Given the description of an element on the screen output the (x, y) to click on. 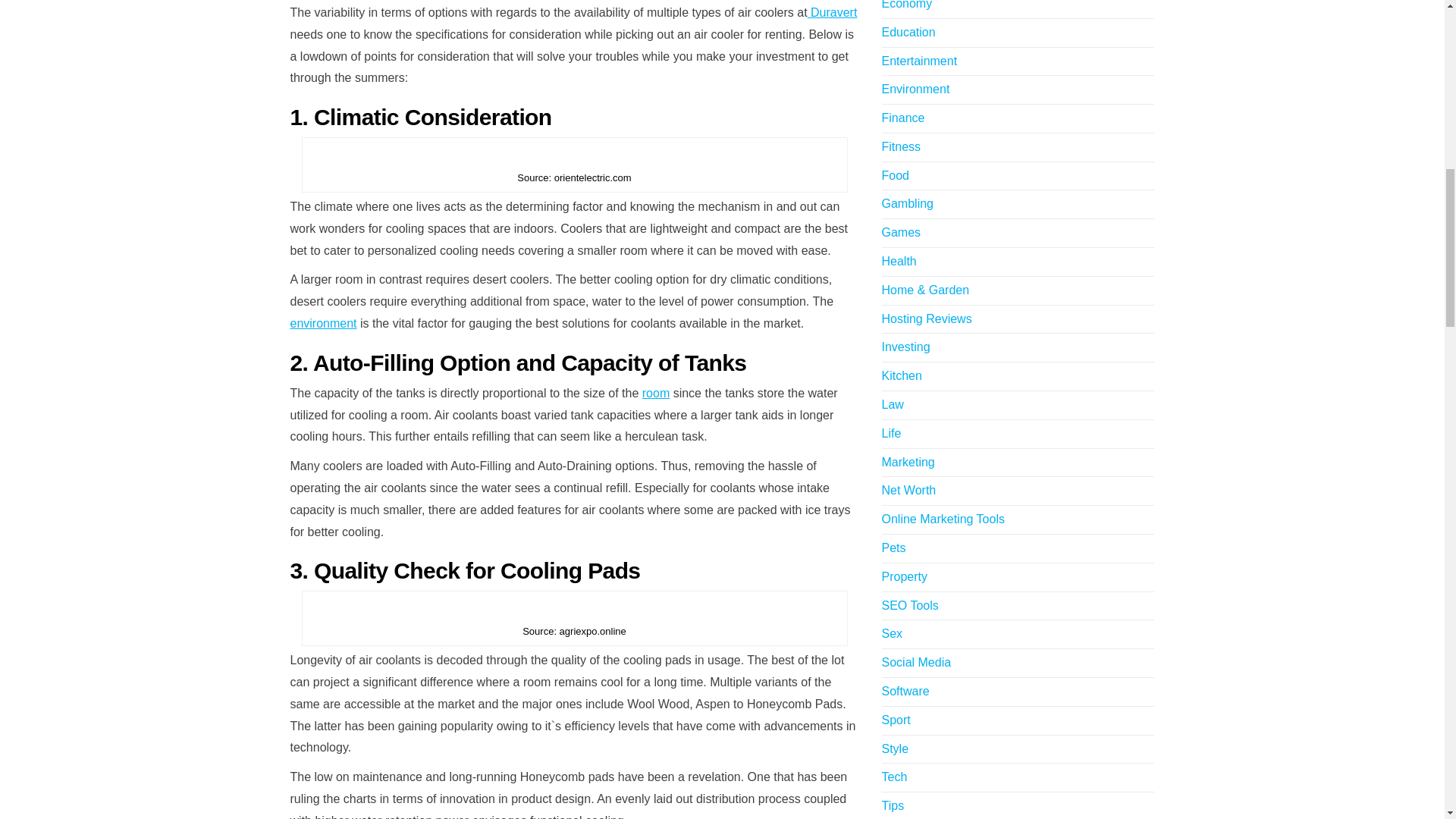
environment (322, 323)
Duravert (832, 11)
room (655, 392)
